Given the description of an element on the screen output the (x, y) to click on. 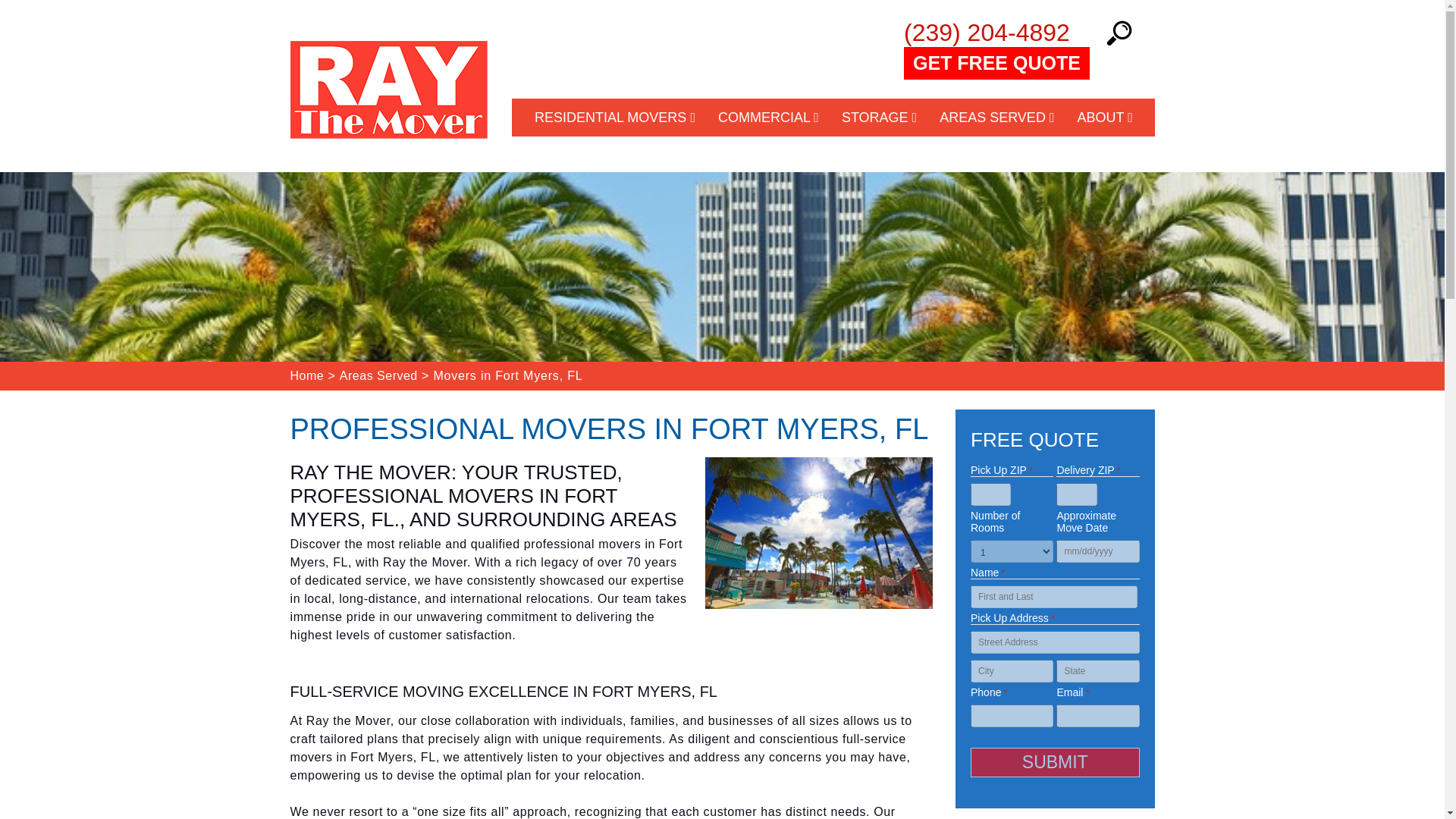
Storage (878, 117)
Commercial (767, 117)
Residential Movers (614, 117)
Submit (1055, 762)
Areas Served (996, 117)
